Given the description of an element on the screen output the (x, y) to click on. 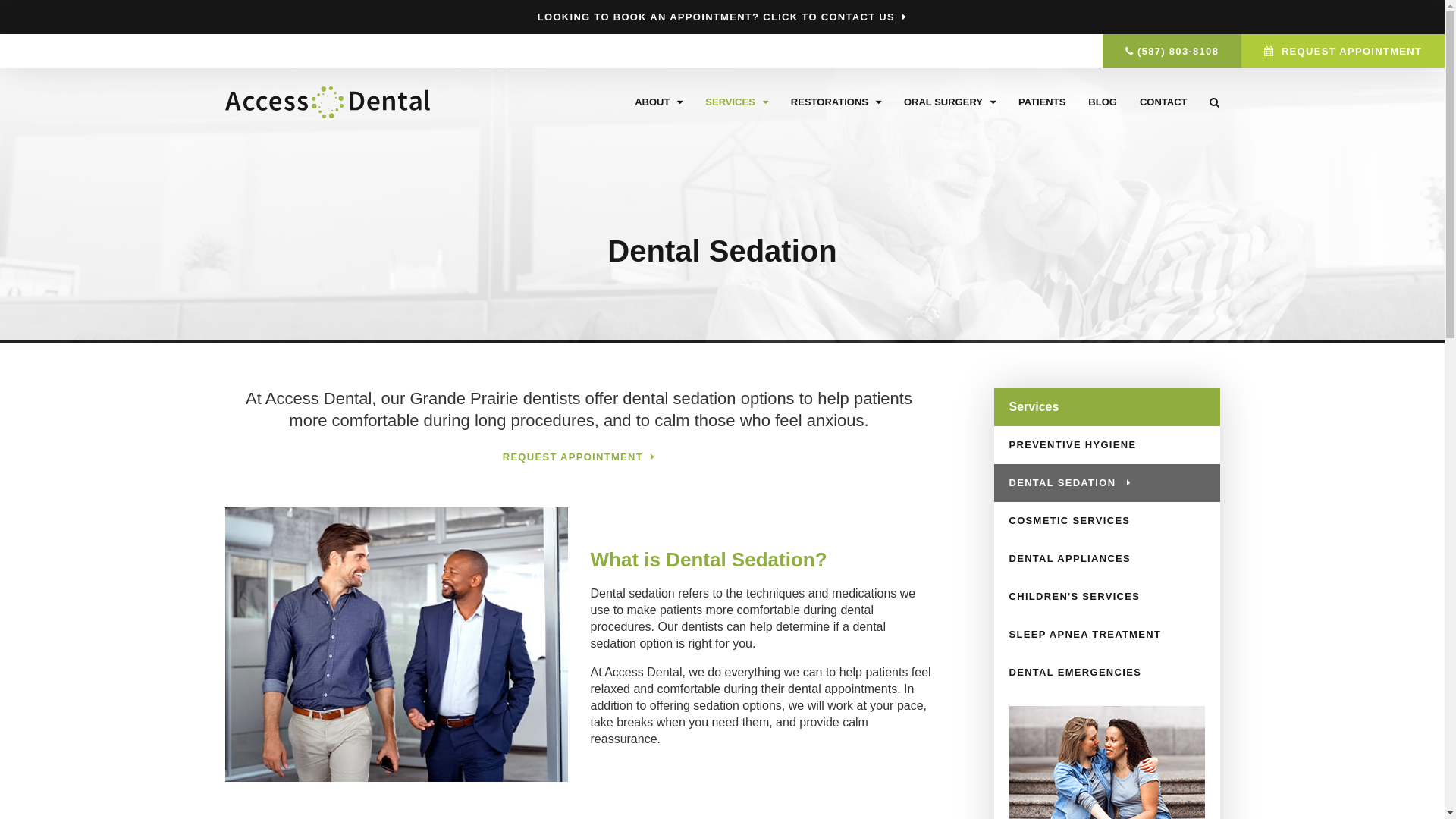
DENTAL APPLIANCES Element type: text (1106, 558)
(587) 803-8108 Element type: text (1171, 51)
CONTACT Element type: text (1163, 102)
LOOKING TO BOOK AN APPOINTMENT? CLICK TO CONTACT US Element type: text (722, 17)
BLOG Element type: text (1102, 102)
REQUEST APPOINTMENT Element type: text (1342, 51)
CHILDREN'S SERVICES Element type: text (1106, 596)
DENTAL SEDATION Element type: text (1106, 483)
ORAL SURGERY Element type: text (949, 102)
SLEEP APNEA TREATMENT Element type: text (1106, 634)
SERVICES Element type: text (736, 102)
SEARCH Element type: text (1208, 102)
DENTAL EMERGENCIES Element type: text (1106, 672)
PREVENTIVE HYGIENE Element type: text (1106, 445)
RESTORATIONS Element type: text (835, 102)
PATIENTS Element type: text (1041, 102)
COSMETIC SERVICES Element type: text (1106, 520)
ABOUT Element type: text (658, 102)
REQUEST APPOINTMENT Element type: text (578, 457)
